Given the description of an element on the screen output the (x, y) to click on. 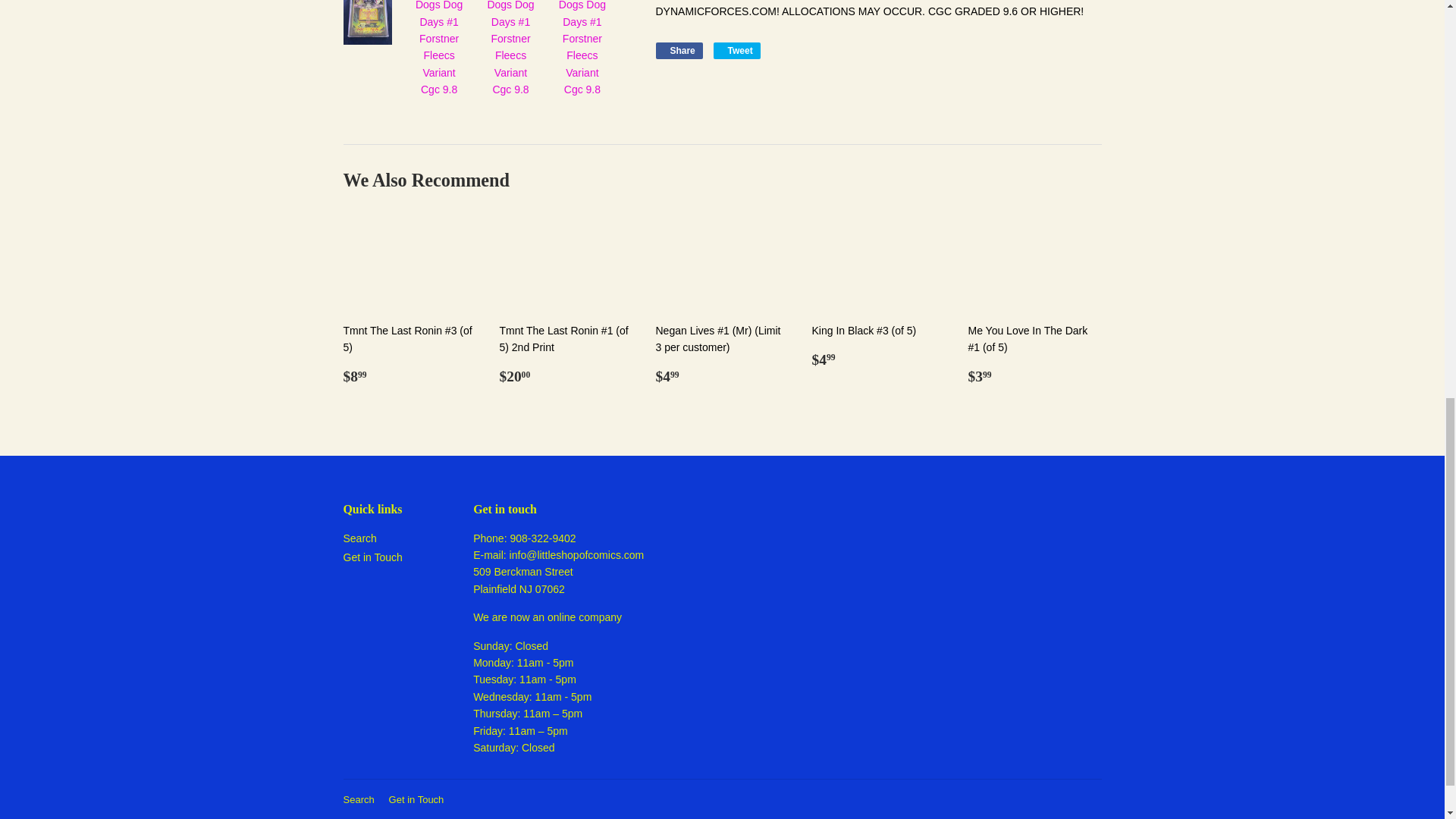
Tweet on Twitter (736, 50)
Share on Facebook (678, 50)
